Given the description of an element on the screen output the (x, y) to click on. 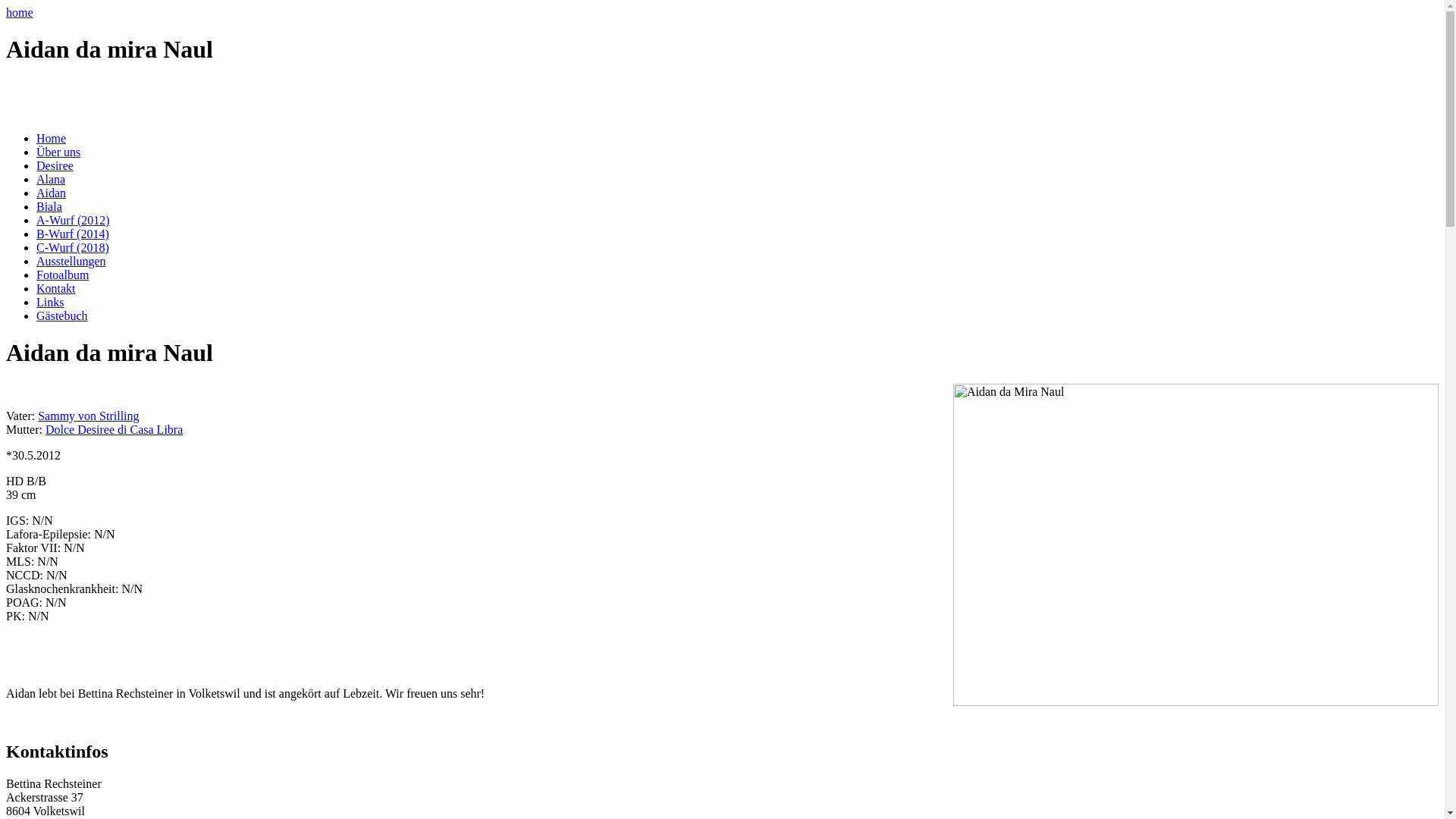
Fotoalbum Element type: text (62, 274)
A-Wurf (2012) Element type: text (72, 219)
Aidan Element type: text (50, 192)
Biala Element type: text (49, 206)
C-Wurf (2018) Element type: text (72, 247)
Ausstellungen Element type: text (71, 260)
Kontakt Element type: text (55, 288)
home Element type: text (19, 12)
Desiree Element type: text (54, 165)
Alana Element type: text (50, 178)
Home Element type: text (50, 137)
B-Wurf (2014) Element type: text (72, 233)
Sammy von Strilling Element type: text (87, 415)
Dolce Desiree di Casa Libra Element type: text (113, 429)
Links Element type: text (49, 301)
